Given the description of an element on the screen output the (x, y) to click on. 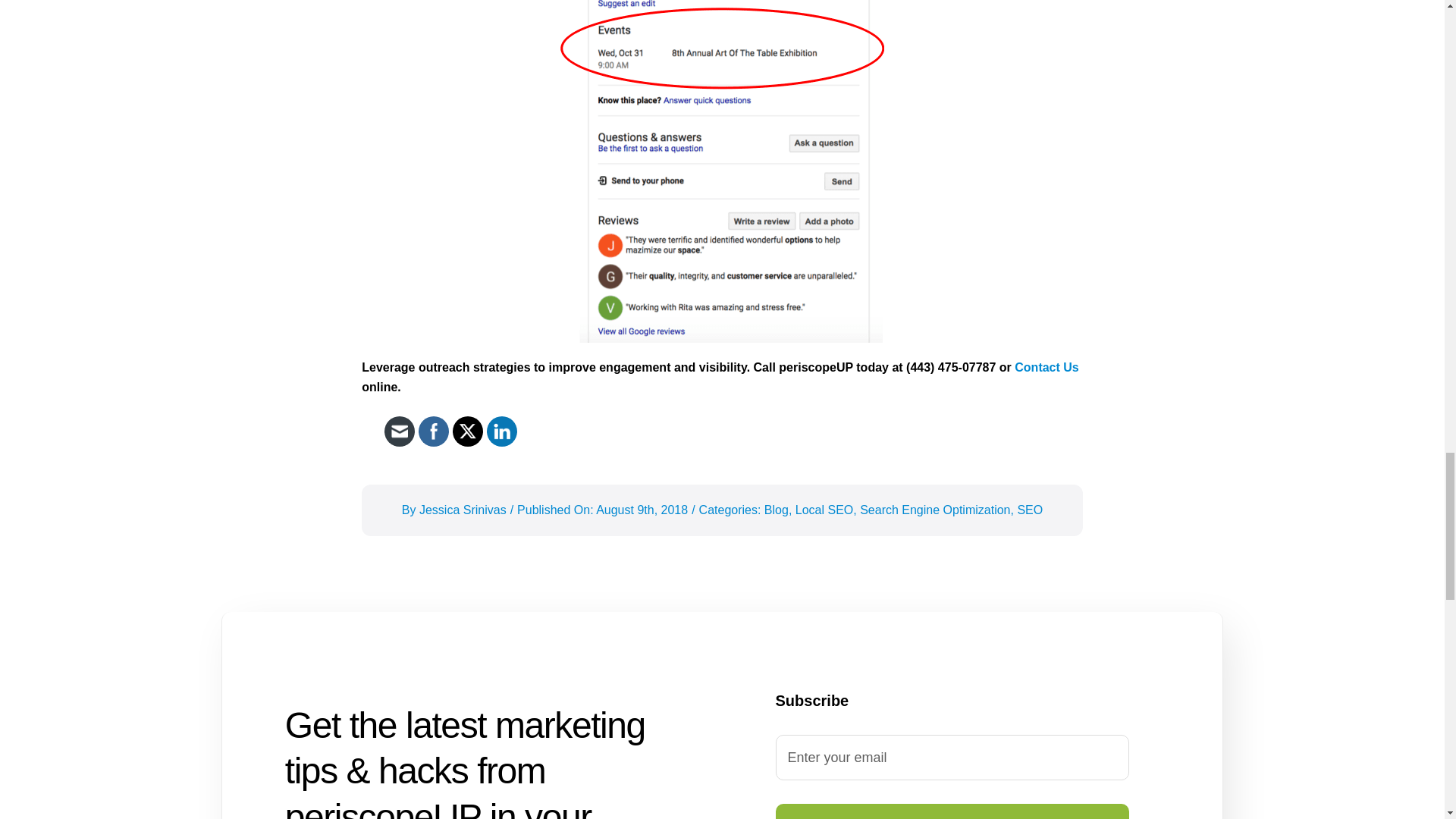
Follow by Email (399, 431)
LinkedIn (502, 431)
Twitter (468, 431)
Facebook (433, 431)
Posts by Jessica Srinivas (462, 509)
Subscribe (952, 811)
